Given the description of an element on the screen output the (x, y) to click on. 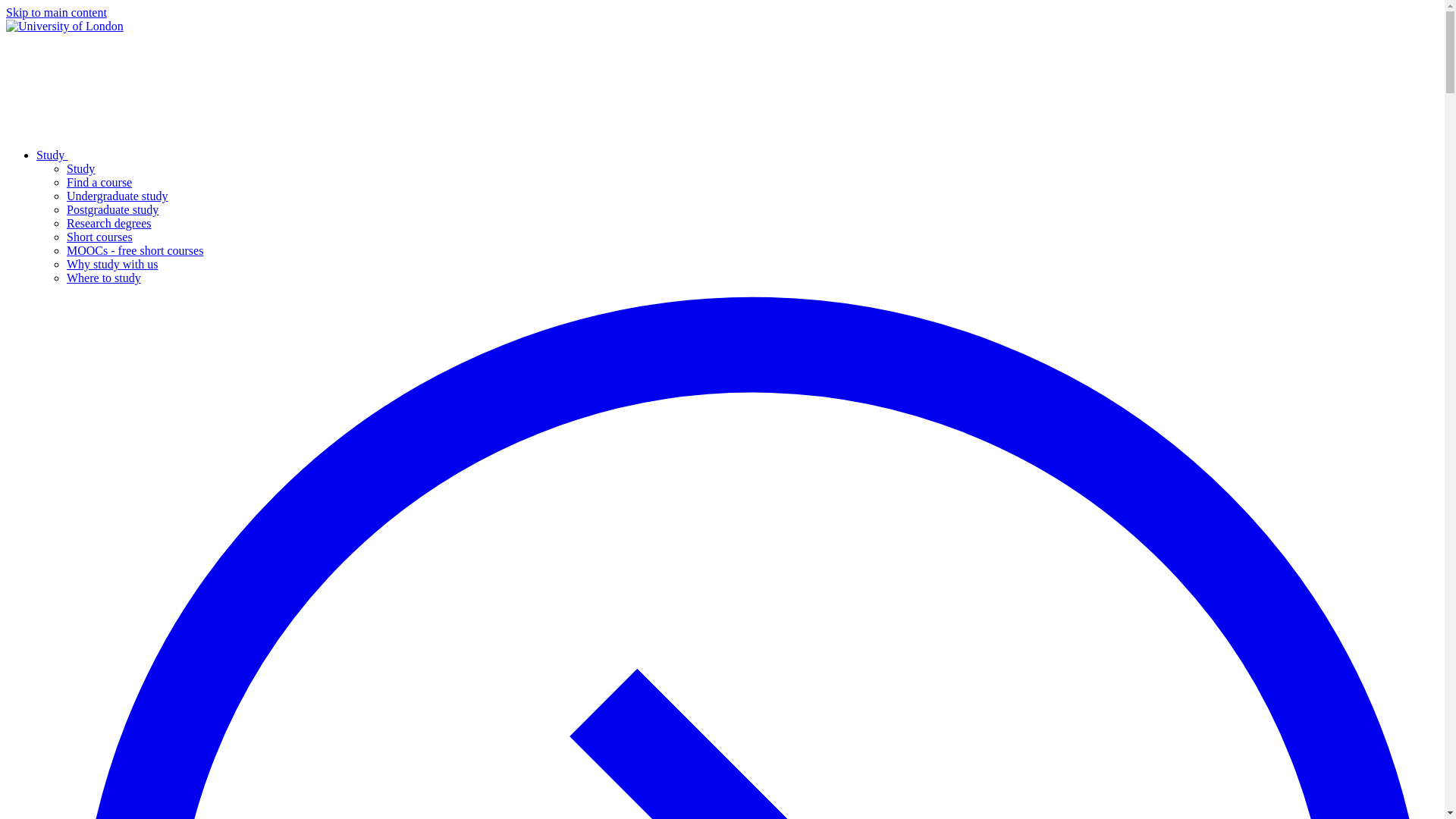
Study (80, 168)
Why study with us (111, 264)
Find a course (99, 182)
MOOCs - free short courses (134, 250)
Short courses (99, 236)
Skip to main content (55, 11)
Research degrees (108, 223)
Postgraduate study (112, 209)
Undergraduate study (116, 195)
Study (165, 154)
